Given the description of an element on the screen output the (x, y) to click on. 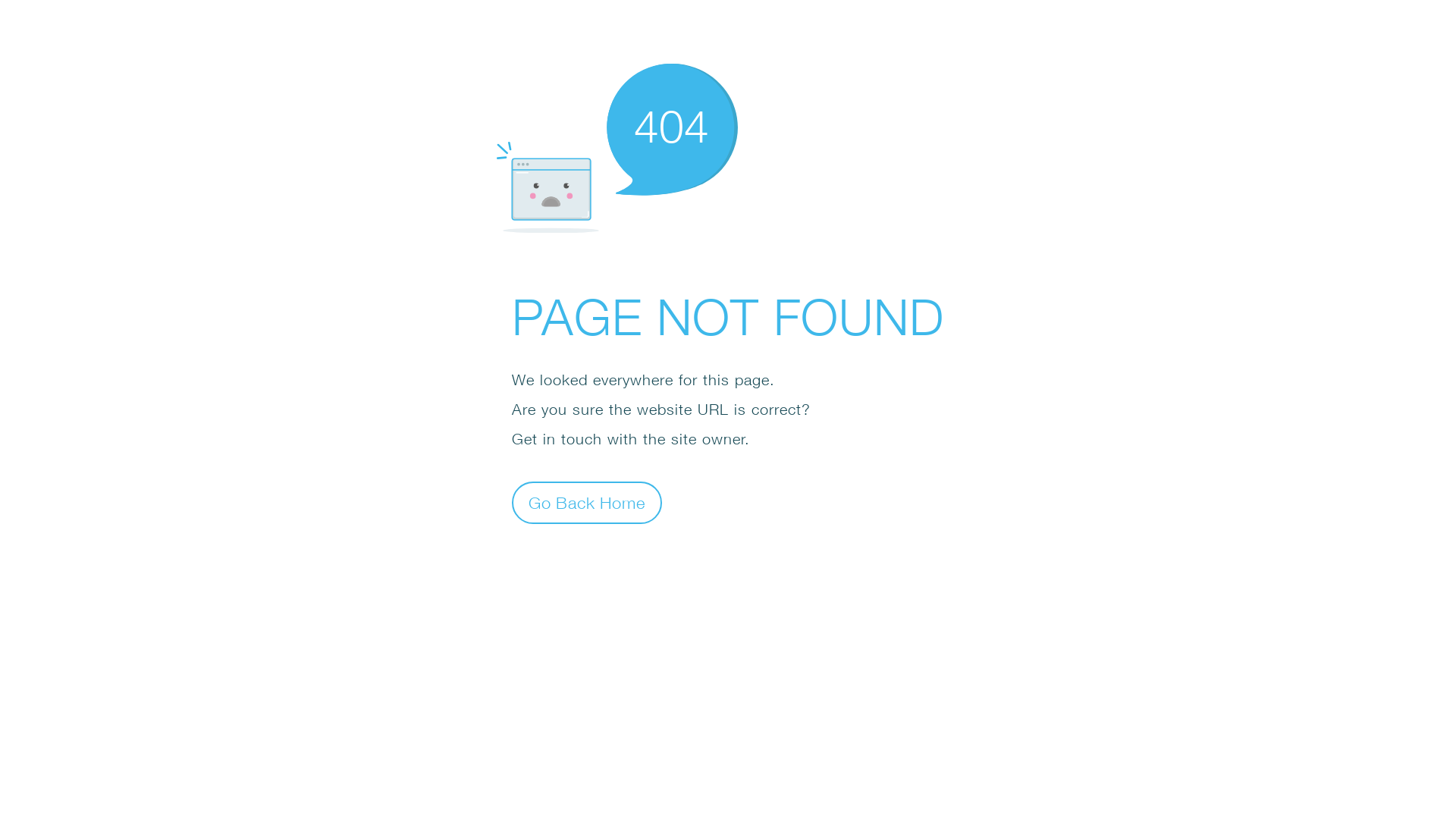
Go Back Home Element type: text (586, 502)
